Given the description of an element on the screen output the (x, y) to click on. 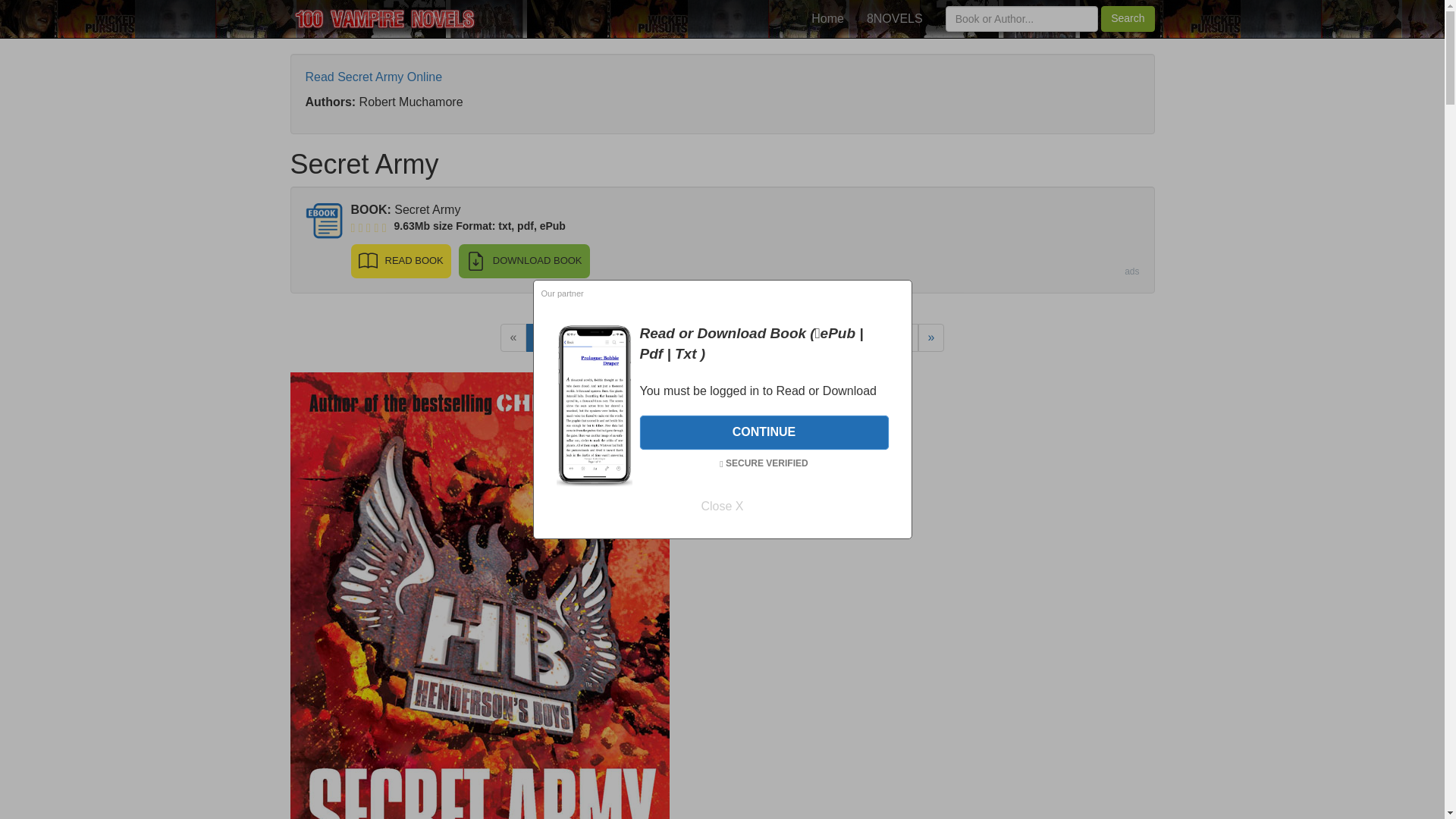
21 (839, 337)
2 (564, 337)
1 (539, 337)
READ BOOK (399, 261)
8 (721, 337)
Read Secret Army Online (373, 76)
Home (827, 18)
8NOVELS (895, 18)
6 (669, 337)
DOWNLOAD BOOK (523, 261)
Search (1127, 18)
3 (591, 337)
5 (643, 337)
31 (901, 337)
10 (776, 337)
